Given the description of an element on the screen output the (x, y) to click on. 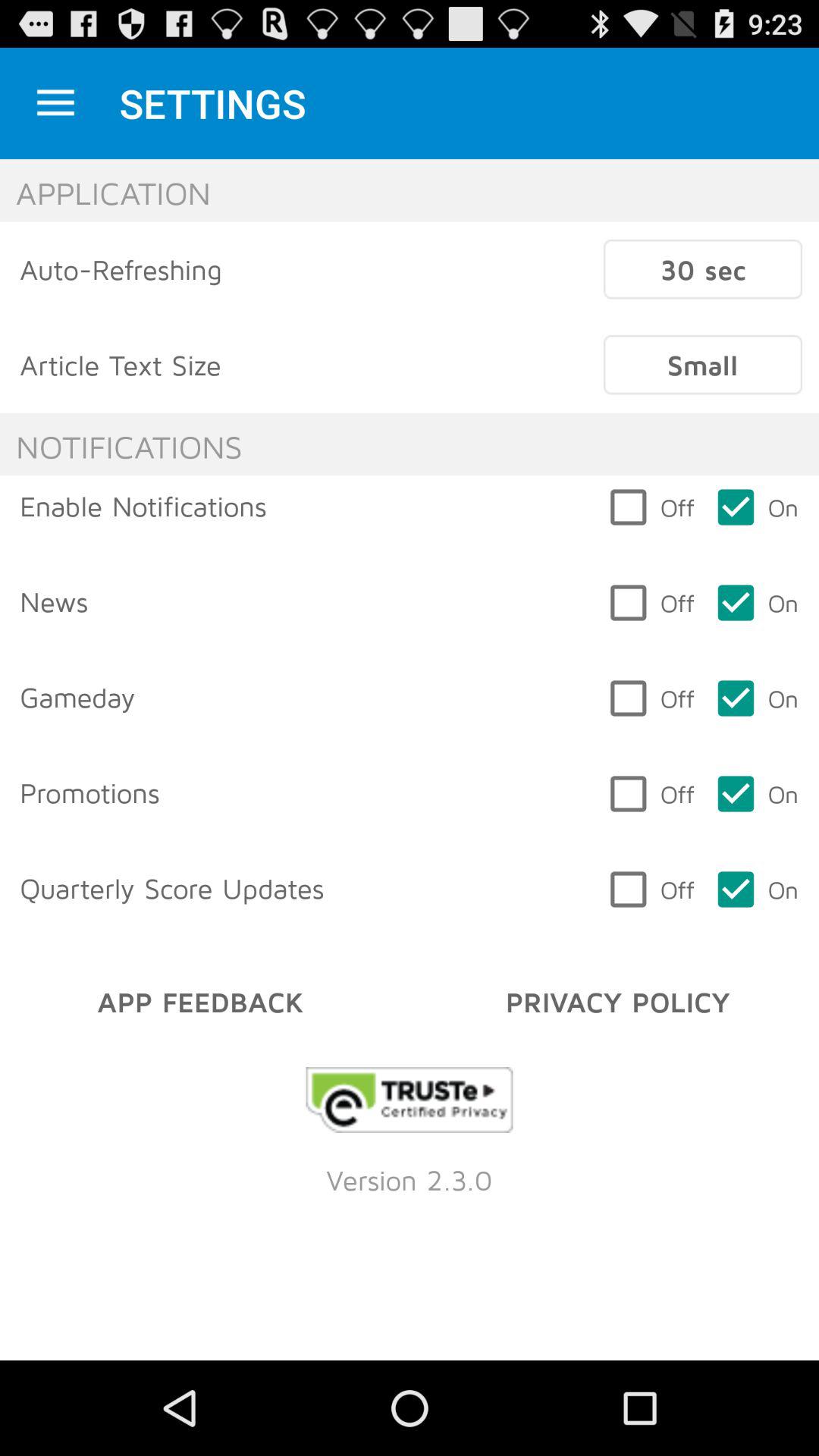
turn on icon next to settings item (55, 103)
